Given the description of an element on the screen output the (x, y) to click on. 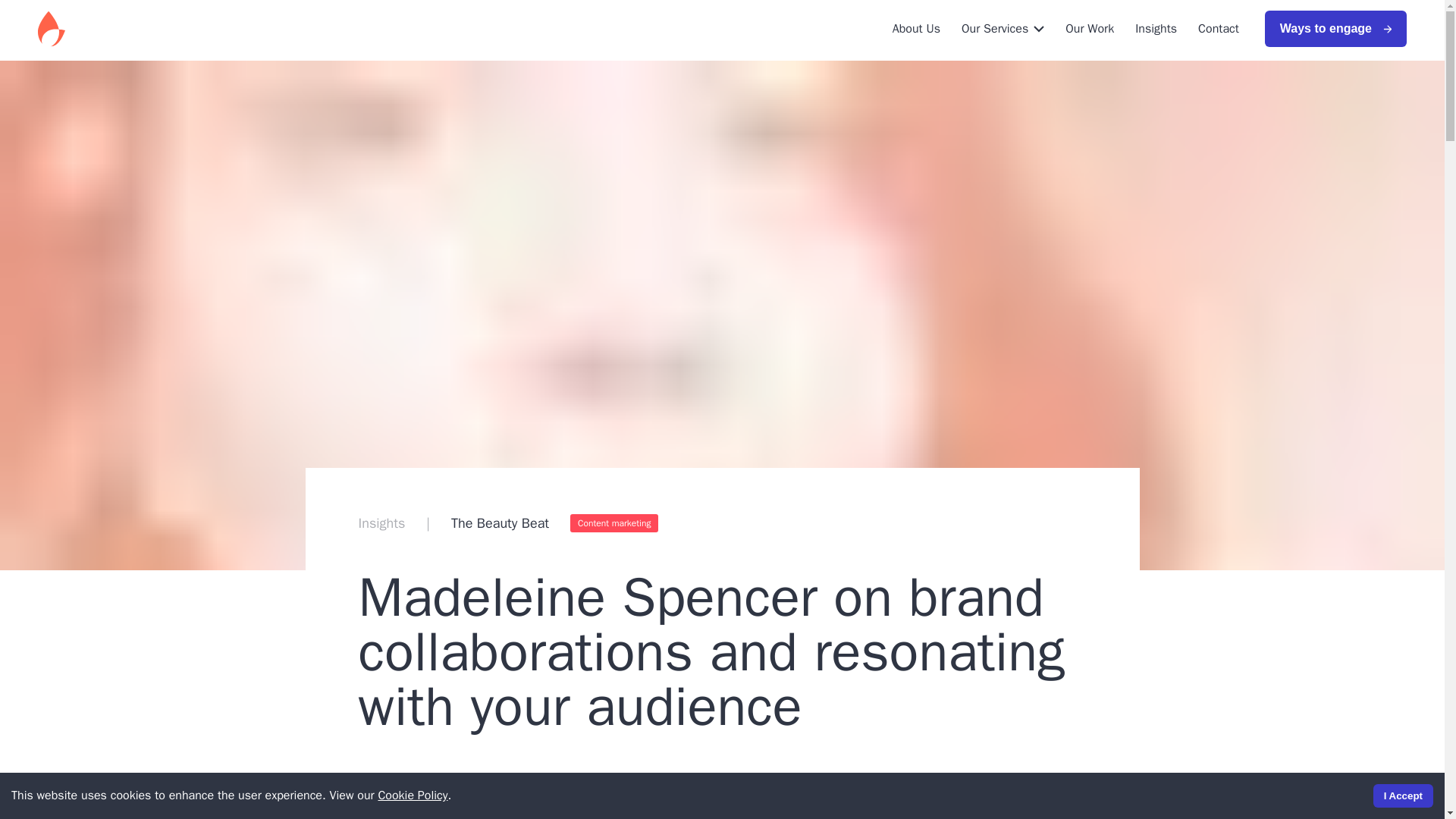
Ways to engage (1335, 28)
About Us (916, 28)
Insights (1155, 28)
Ways to engage (1327, 28)
Contact (1218, 28)
Our Work (1089, 28)
